Given the description of an element on the screen output the (x, y) to click on. 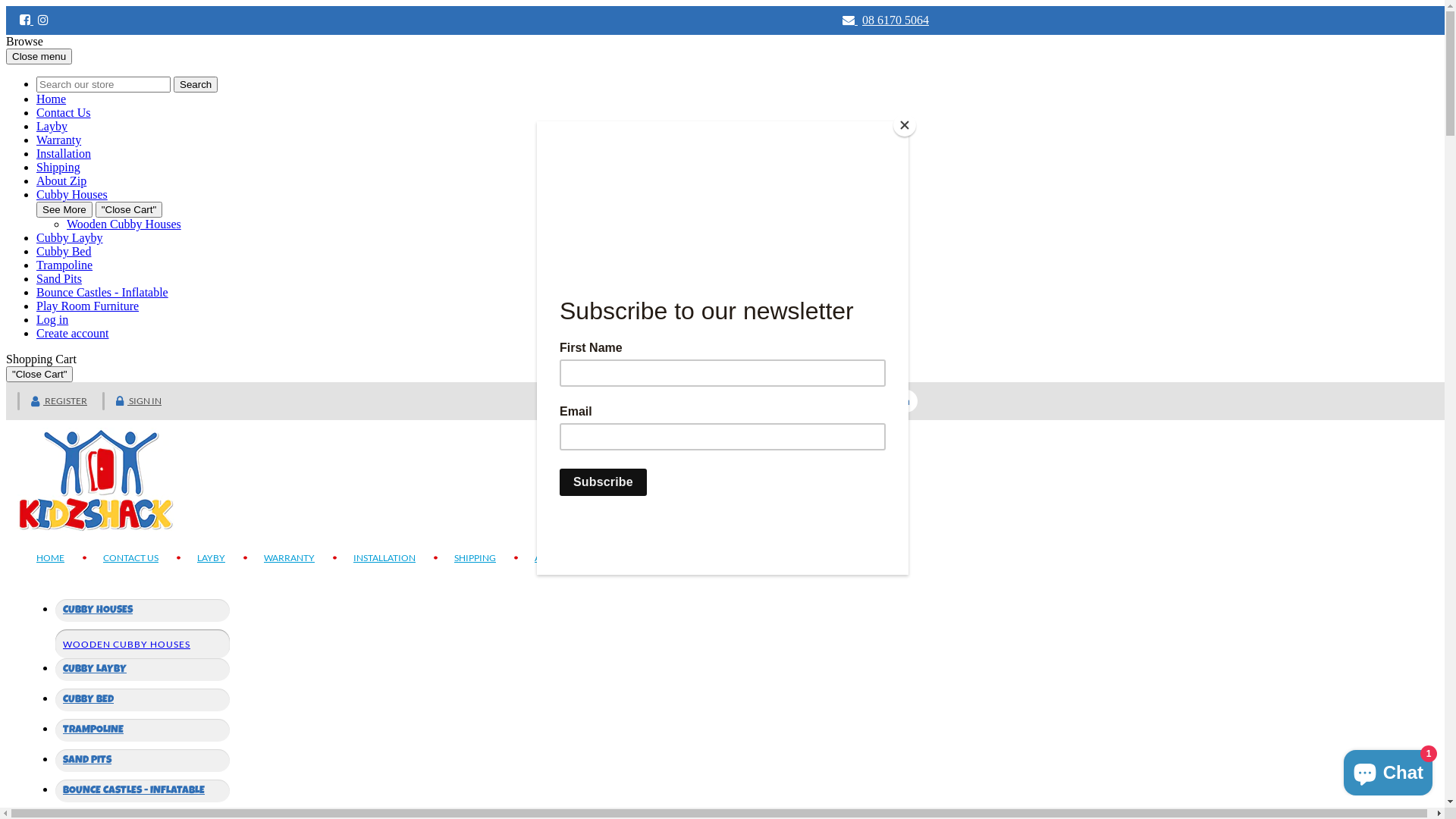
Warranty Element type: text (58, 139)
CUBBY HOUSES Element type: text (142, 610)
See More Element type: text (64, 209)
WOODEN CUBBY HOUSES Element type: text (126, 643)
Shipping Element type: text (58, 166)
About Zip Element type: text (61, 180)
Search Element type: text (893, 400)
Log in Element type: text (52, 319)
"Close Cart" Element type: text (128, 209)
TRAMPOLINE Element type: text (142, 729)
Cubby Layby Element type: text (69, 237)
CONTACT US Element type: text (130, 557)
CUBBY LAYBY Element type: text (142, 669)
Cubby Houses Element type: text (71, 194)
0 ITEMS Element type: text (673, 400)
Close menu Element type: text (39, 56)
ABOUT ZIP Element type: text (550, 557)
Trampoline Element type: text (64, 264)
Create account Element type: text (72, 332)
SIGN IN Element type: text (138, 400)
"Close Cart" Element type: text (39, 374)
REGISTER Element type: text (59, 400)
WARRANTY Element type: text (288, 557)
BOUNCE CASTLES - INFLATABLE Element type: text (142, 790)
SAND PITS Element type: text (142, 760)
INSTALLATION Element type: text (384, 557)
Cubby Bed Element type: text (63, 250)
Search Element type: text (195, 84)
Home Element type: text (50, 98)
Wooden Cubby Houses Element type: text (123, 223)
Layby Element type: text (51, 125)
HOME Element type: text (50, 557)
Contact Us Element type: text (63, 112)
CUBBY BED Element type: text (142, 699)
Sand Pits Element type: text (58, 278)
Installation Element type: text (63, 153)
08 6170 5064 Element type: text (895, 19)
SHIPPING Element type: text (475, 557)
Bounce Castles - Inflatable Element type: text (102, 291)
Shopify online store chat Element type: hover (1388, 769)
LAYBY Element type: text (211, 557)
Play Room Furniture Element type: text (87, 305)
